Given the description of an element on the screen output the (x, y) to click on. 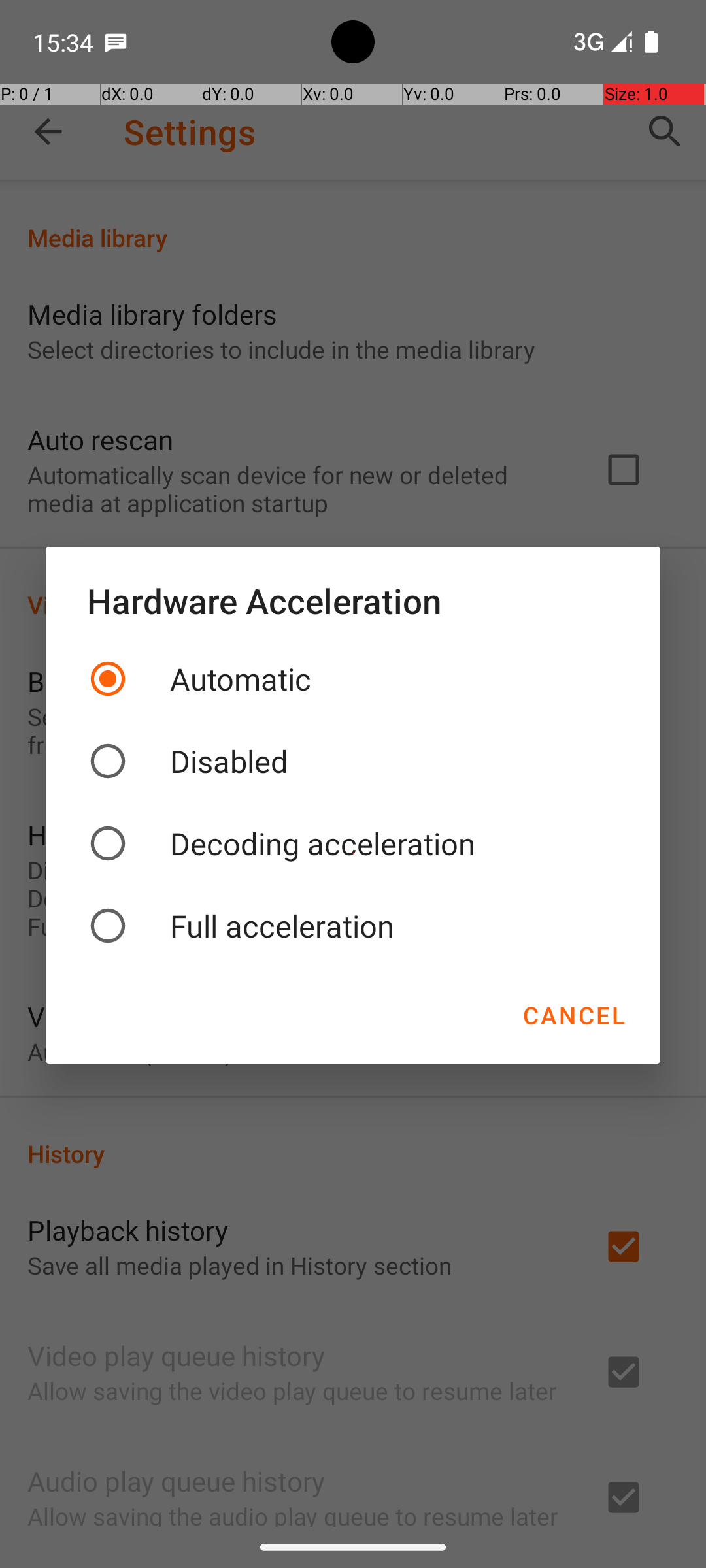
Hardware Acceleration Element type: android.widget.TextView (352, 600)
Automatic Element type: android.widget.CheckedTextView (352, 678)
Disabled Element type: android.widget.CheckedTextView (352, 760)
Decoding acceleration Element type: android.widget.CheckedTextView (352, 843)
Full acceleration Element type: android.widget.CheckedTextView (352, 925)
